Given the description of an element on the screen output the (x, y) to click on. 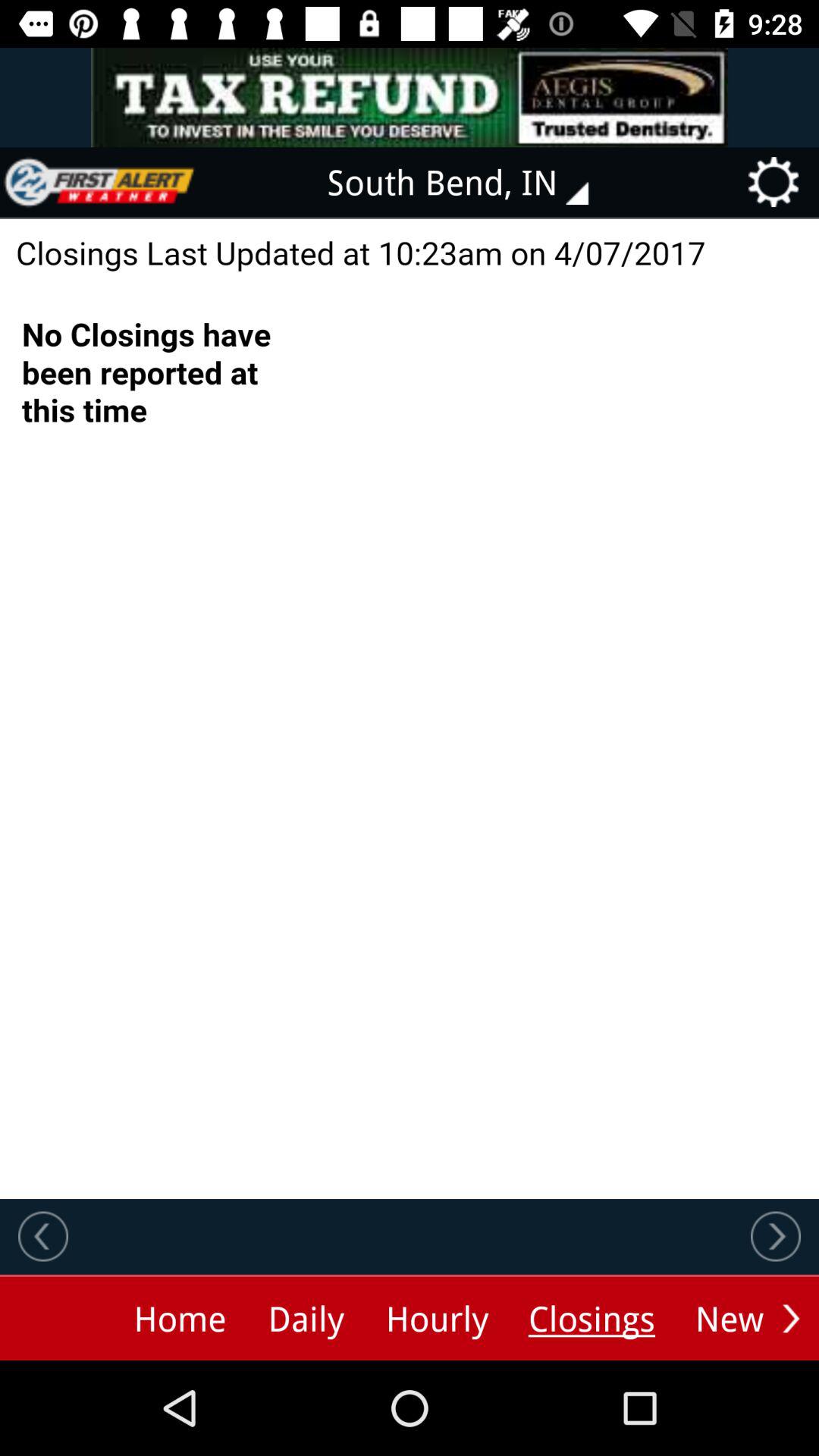
go to next (791, 1318)
